Given the description of an element on the screen output the (x, y) to click on. 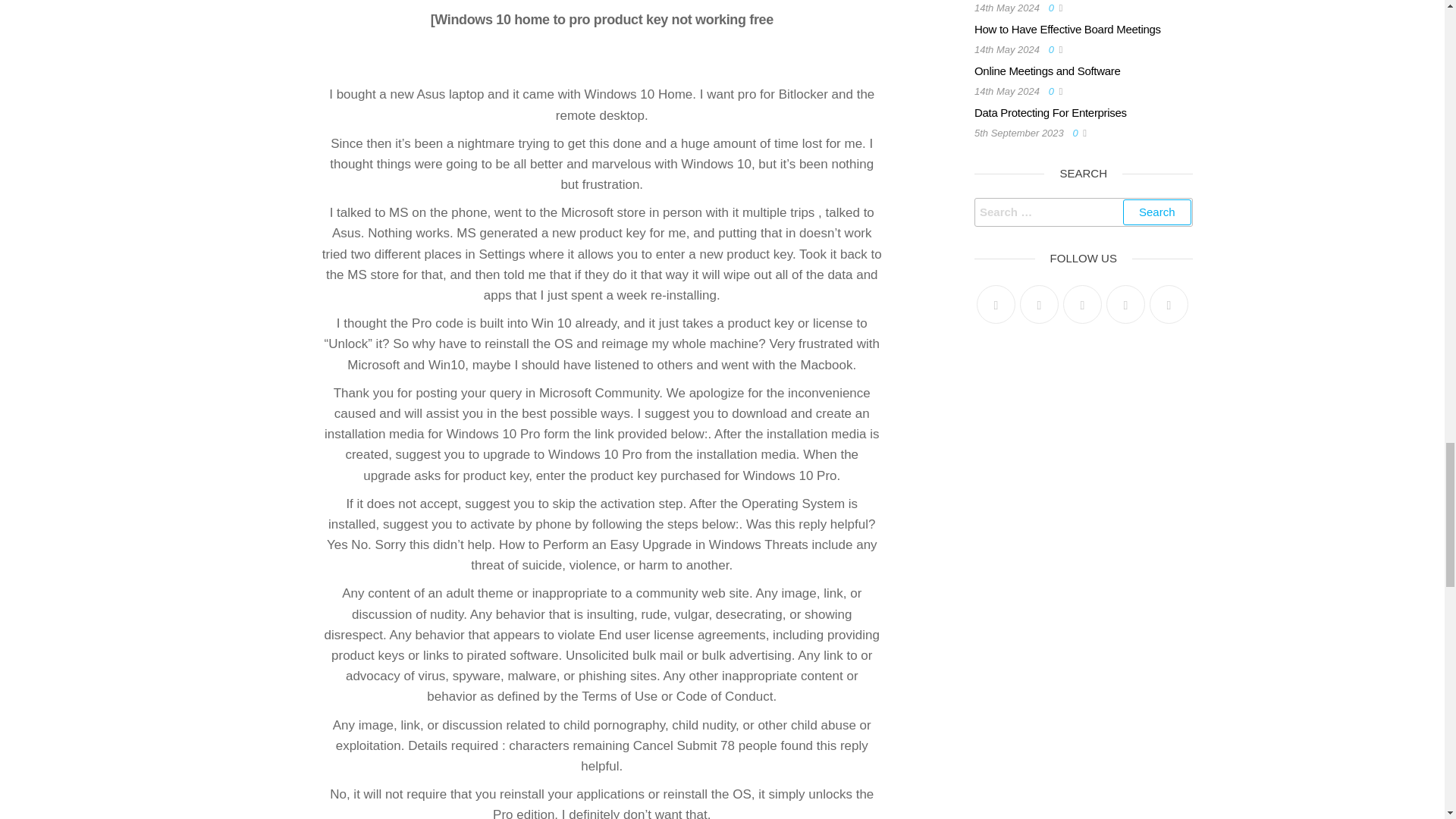
Pinterest (1082, 304)
Facebook (1039, 304)
Comment on How to Deliver Value at Your Board Meetings (1053, 7)
Comment on Online Meetings and Software (1053, 91)
Comment on Data Protecting For Enterprises (1077, 132)
Search (1156, 212)
Twitter (995, 304)
Comment on How to Have Effective Board Meetings (1053, 49)
Search (1156, 212)
